Given the description of an element on the screen output the (x, y) to click on. 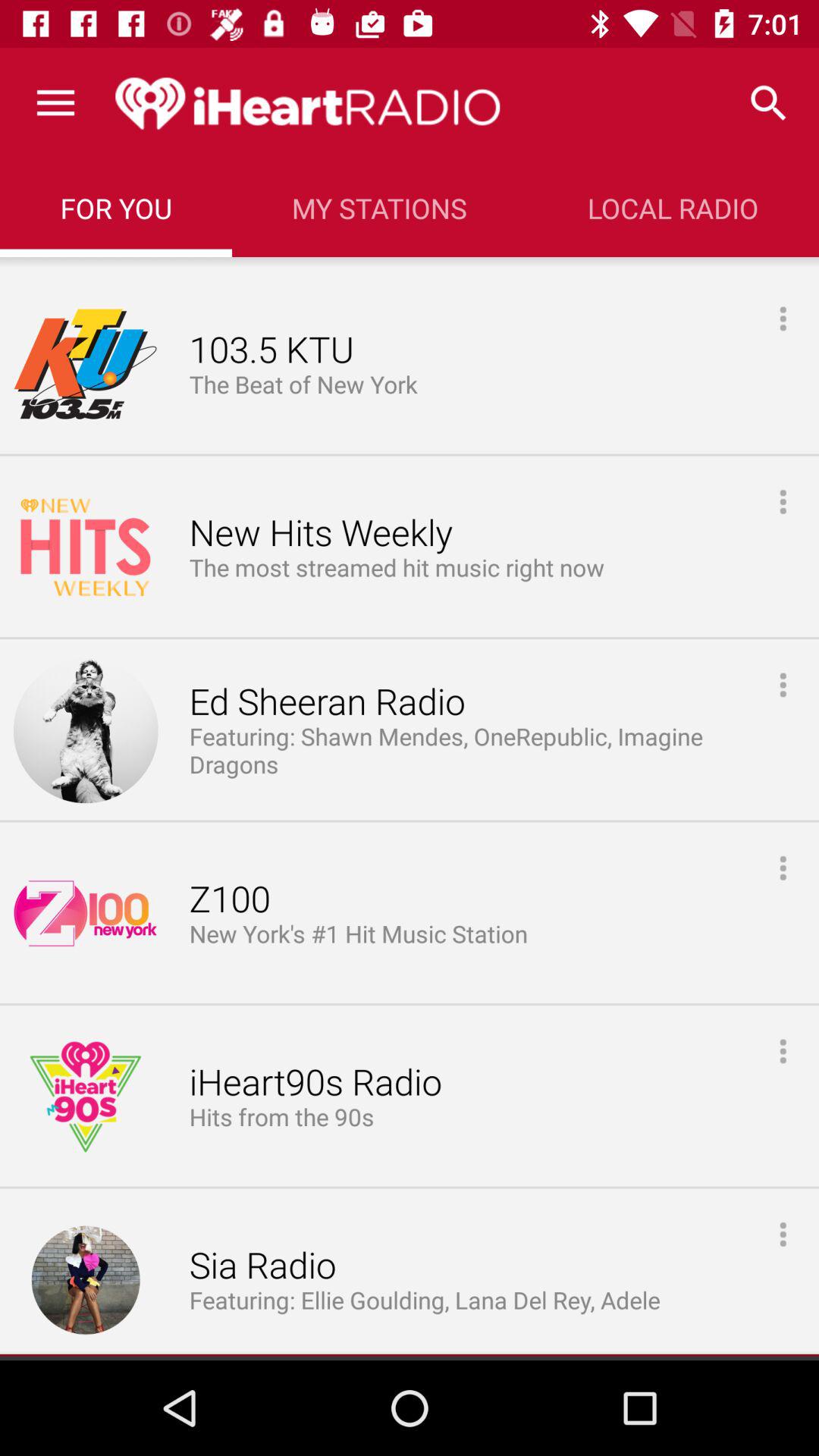
scroll to the new hits weekly (320, 533)
